Given the description of an element on the screen output the (x, y) to click on. 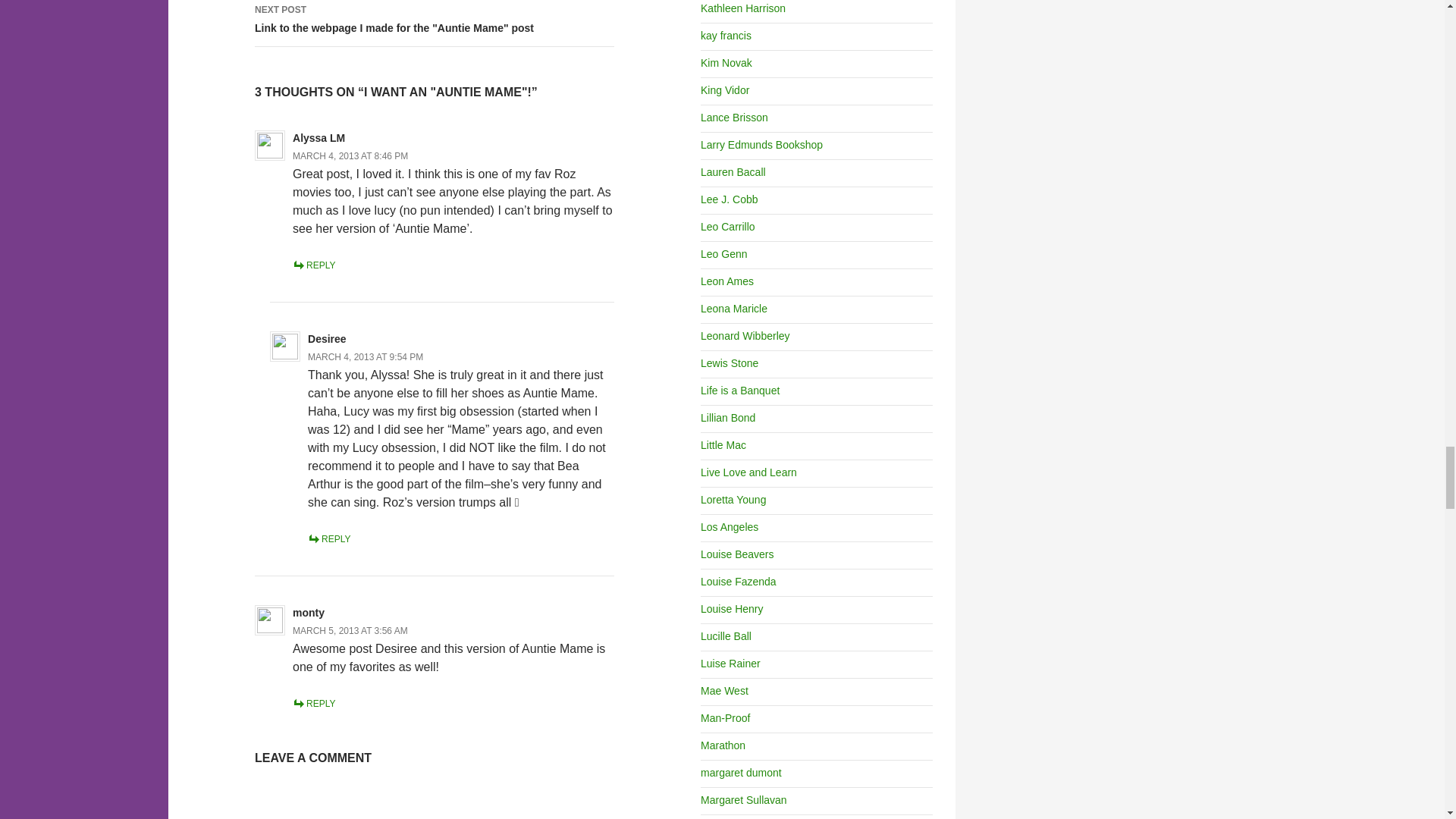
MARCH 4, 2013 AT 8:46 PM (349, 155)
Comment Form (434, 802)
Alyssa LM (318, 137)
